Given the description of an element on the screen output the (x, y) to click on. 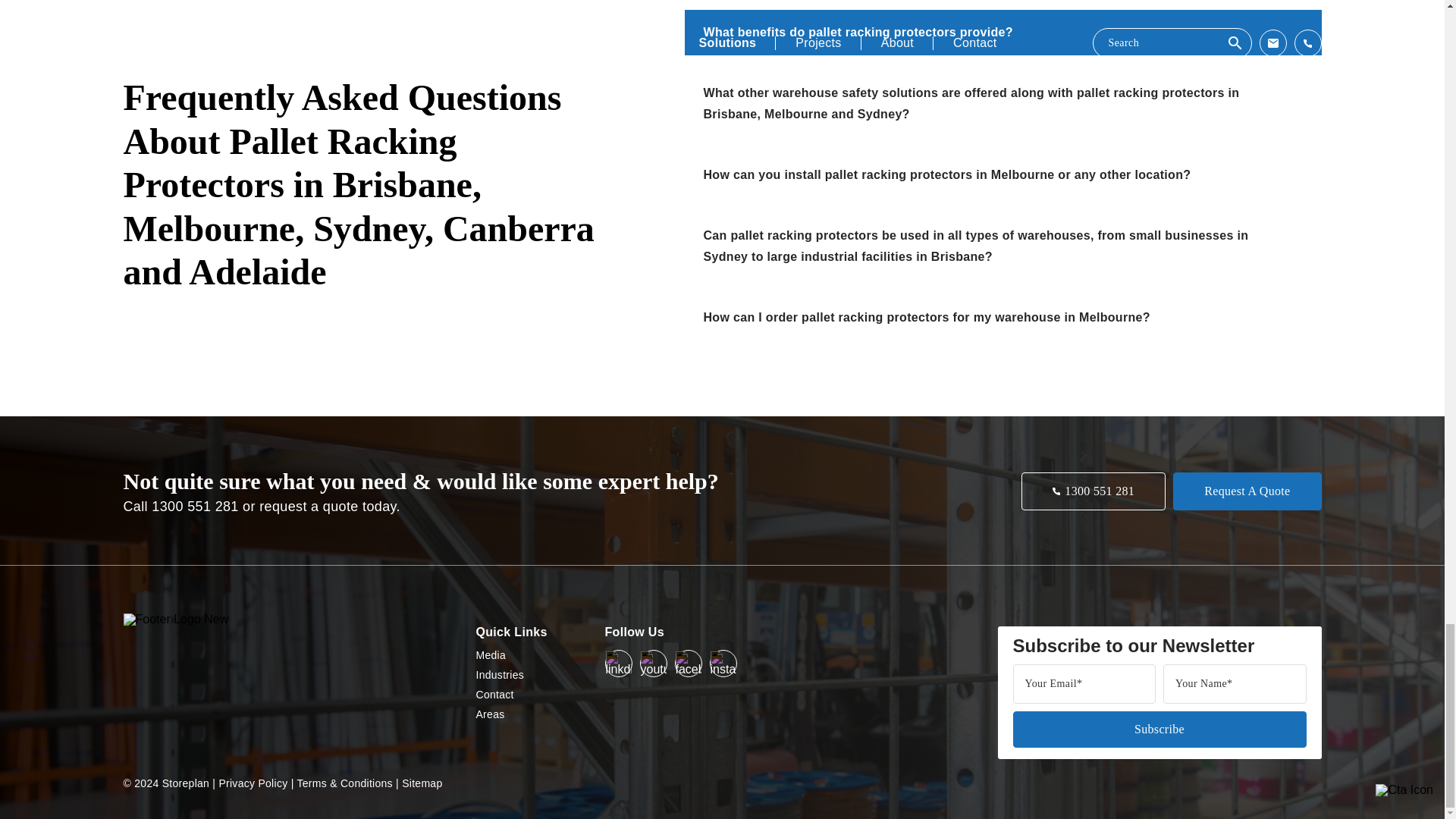
Subscribe (1159, 729)
